Given the description of an element on the screen output the (x, y) to click on. 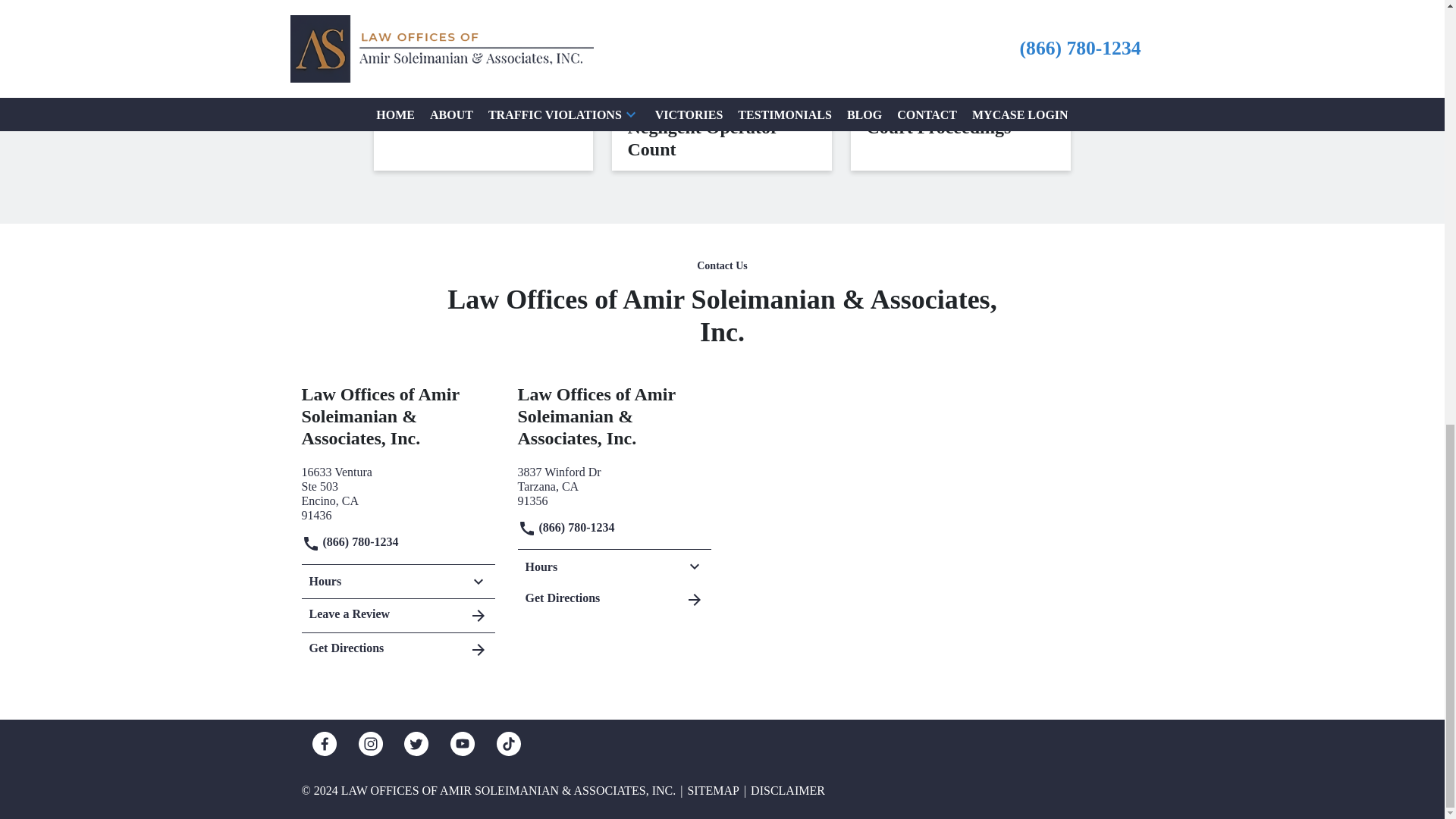
Get Directions (398, 491)
Hours (613, 484)
Leave a Review (398, 646)
